Given the description of an element on the screen output the (x, y) to click on. 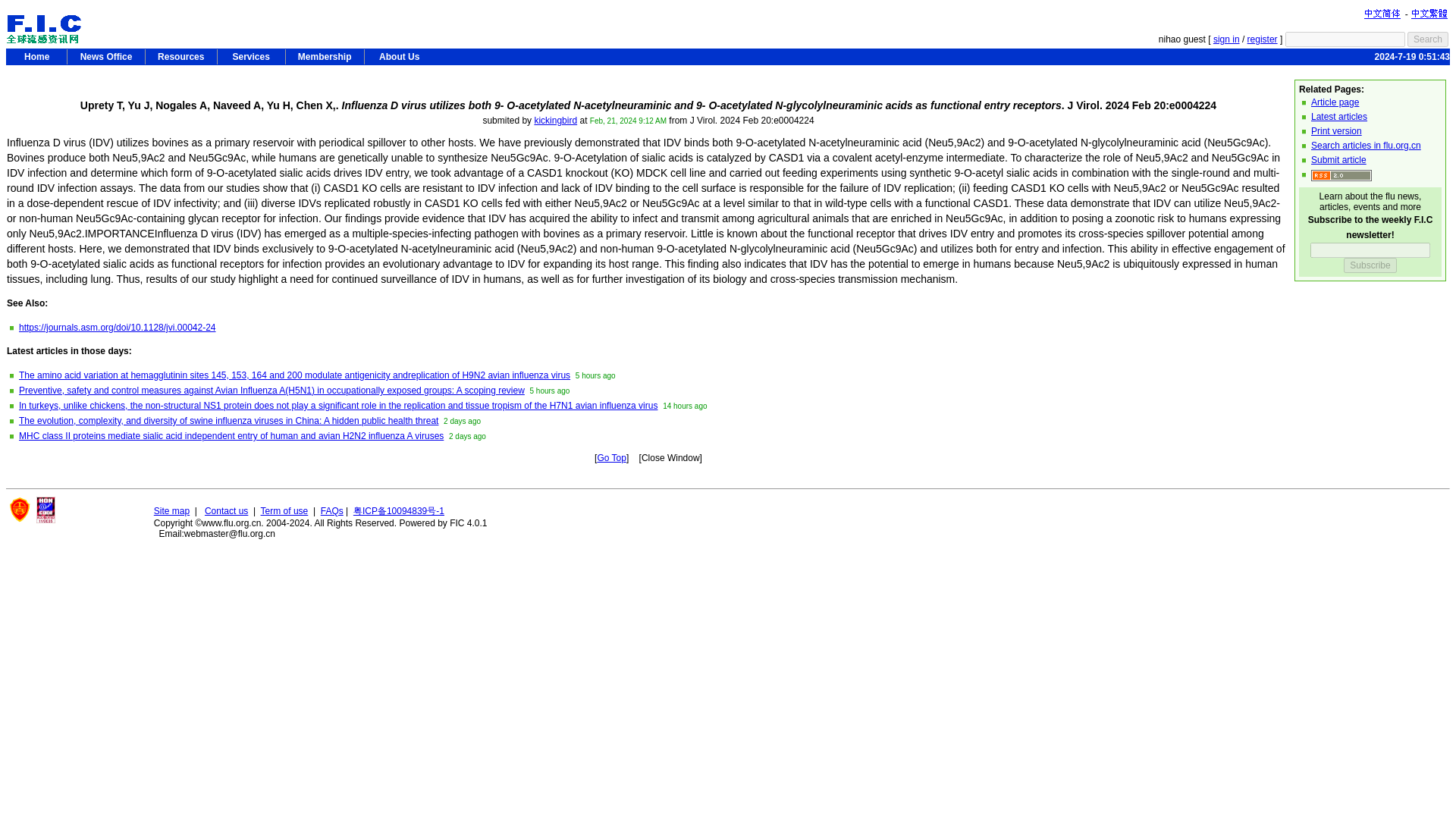
    Resources     (180, 56)
Term of use (284, 511)
Go Top (611, 457)
Search articles in flu.org.cn (1366, 145)
Contact us (226, 511)
     Services      (250, 56)
Print version (1336, 131)
Submit article (1339, 159)
Site map (171, 511)
    News Office     (105, 56)
register (1262, 39)
FAQs (331, 511)
